Given the description of an element on the screen output the (x, y) to click on. 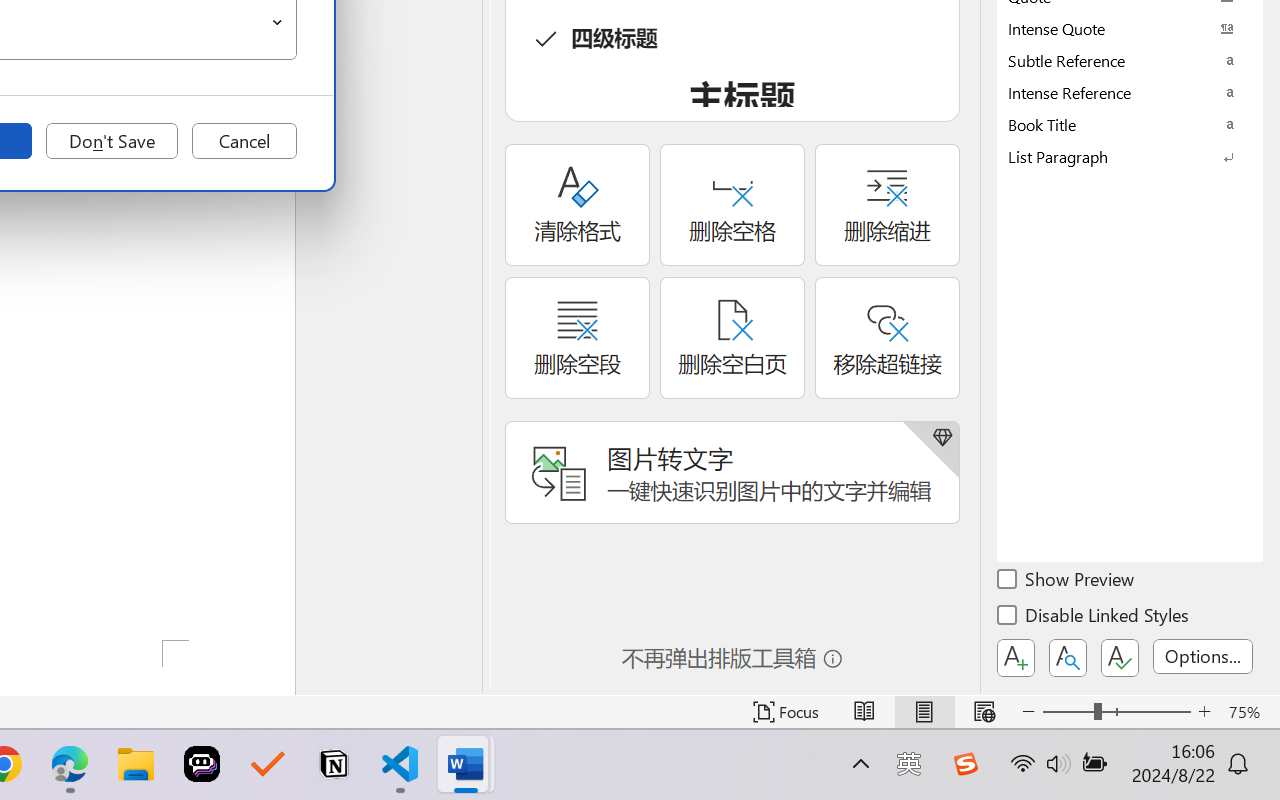
Zoom In (1204, 712)
Class: NetUIImage (1116, 156)
Book Title (1130, 124)
Class: NetUIButton (1119, 657)
Print Layout (924, 712)
Intense Quote (1130, 28)
